Given the description of an element on the screen output the (x, y) to click on. 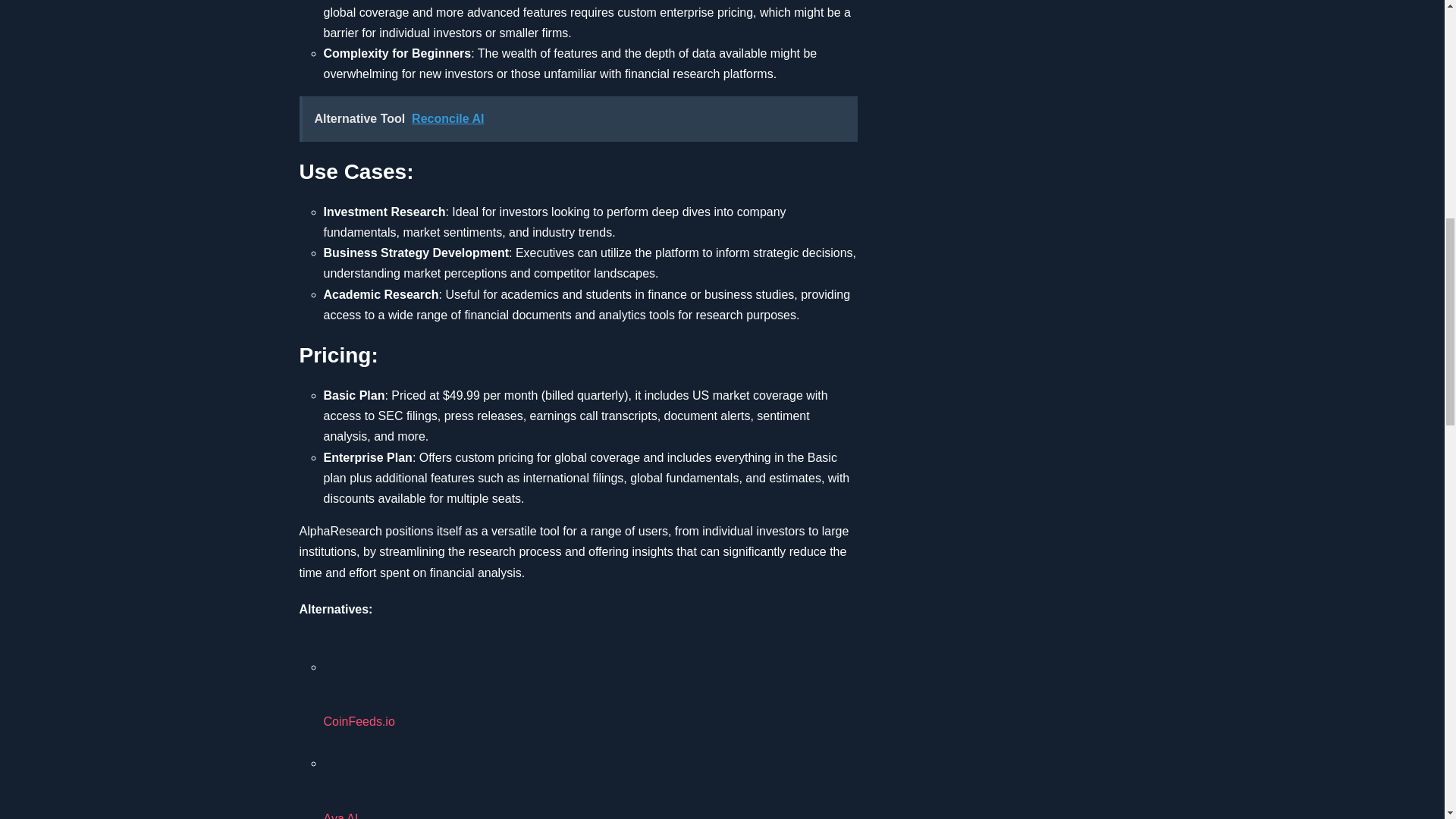
Alternative Tool  Reconcile AI (577, 118)
Aya AI (379, 764)
Aya AI (590, 775)
CoinFeeds.io (379, 667)
CoinFeeds.io (590, 681)
